Given the description of an element on the screen output the (x, y) to click on. 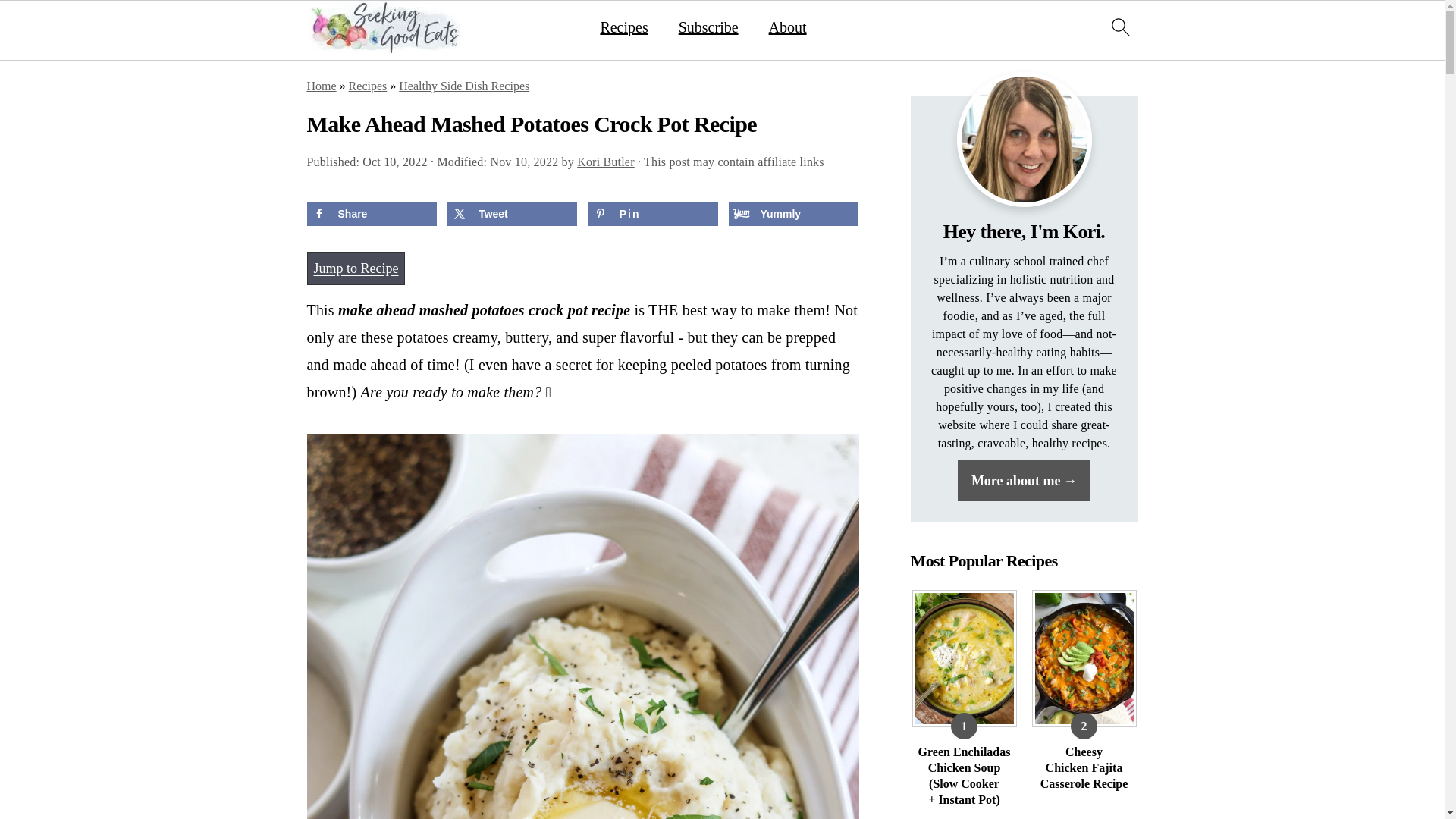
About (787, 27)
Recipes (623, 27)
search icon (1119, 26)
Tweet (511, 213)
Share on Yummly (794, 213)
Home (320, 85)
Kori Butler (605, 161)
Pin (652, 213)
Share on Facebook (370, 213)
